Given the description of an element on the screen output the (x, y) to click on. 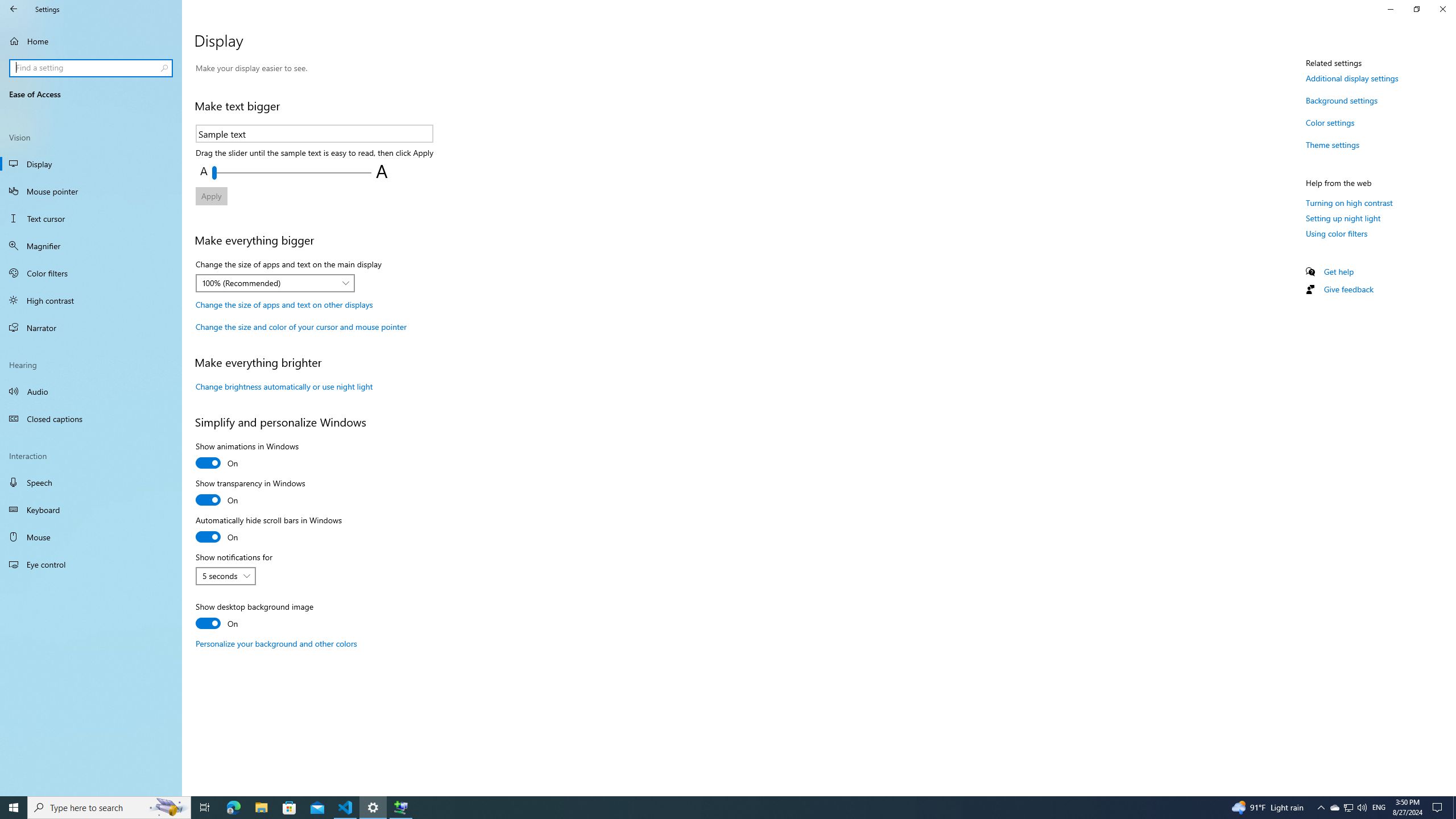
Change the size of apps and text on the main display (275, 283)
Extensible Wizards Host Process - 1 running window (400, 807)
High contrast (91, 299)
Mouse (91, 536)
Text cursor (91, 217)
Show notifications for (225, 575)
Running applications (706, 807)
Show animations in Windows (246, 455)
Using color filters (1336, 233)
